Given the description of an element on the screen output the (x, y) to click on. 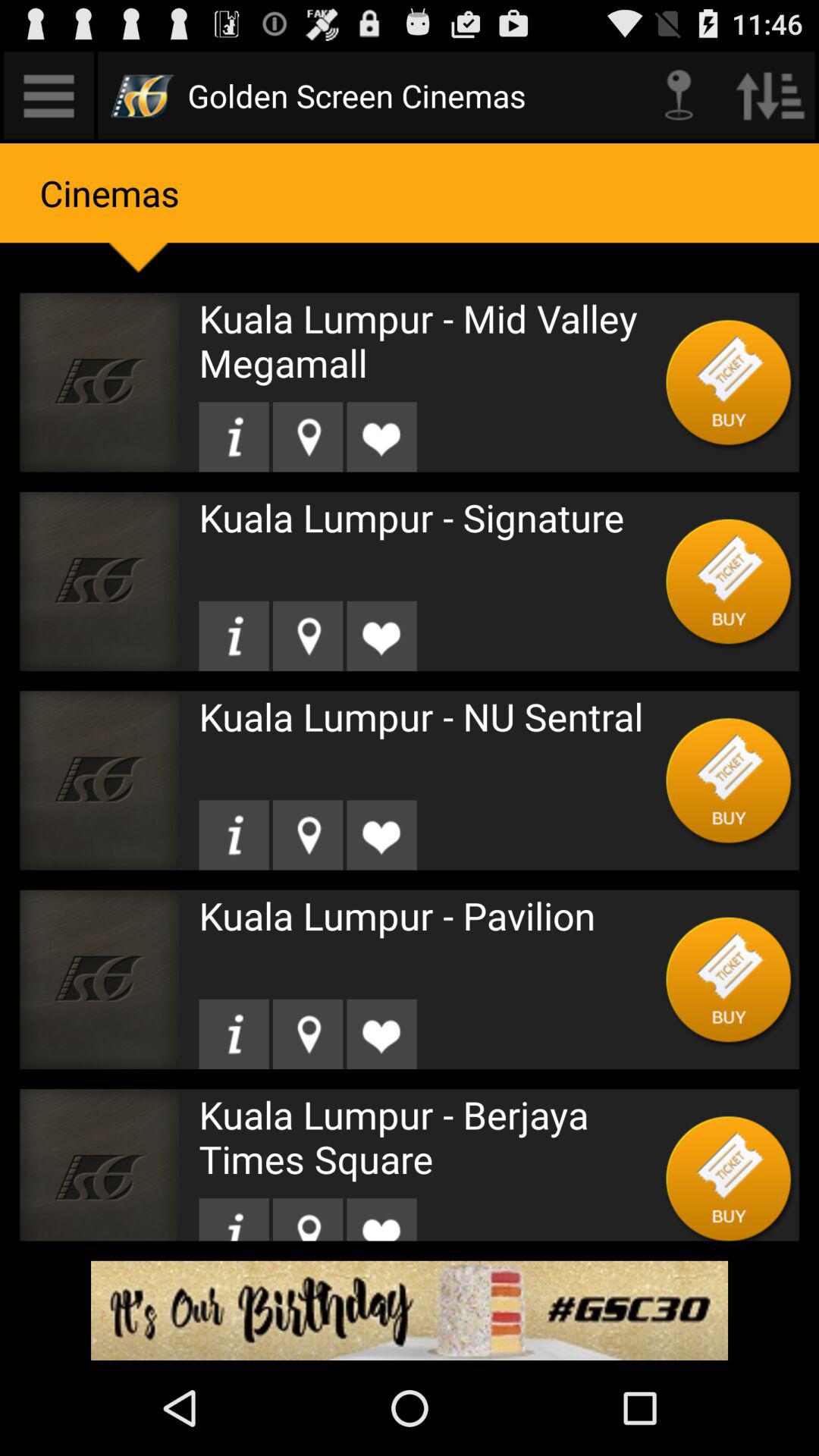
buy pavilion tickets (729, 979)
